Given the description of an element on the screen output the (x, y) to click on. 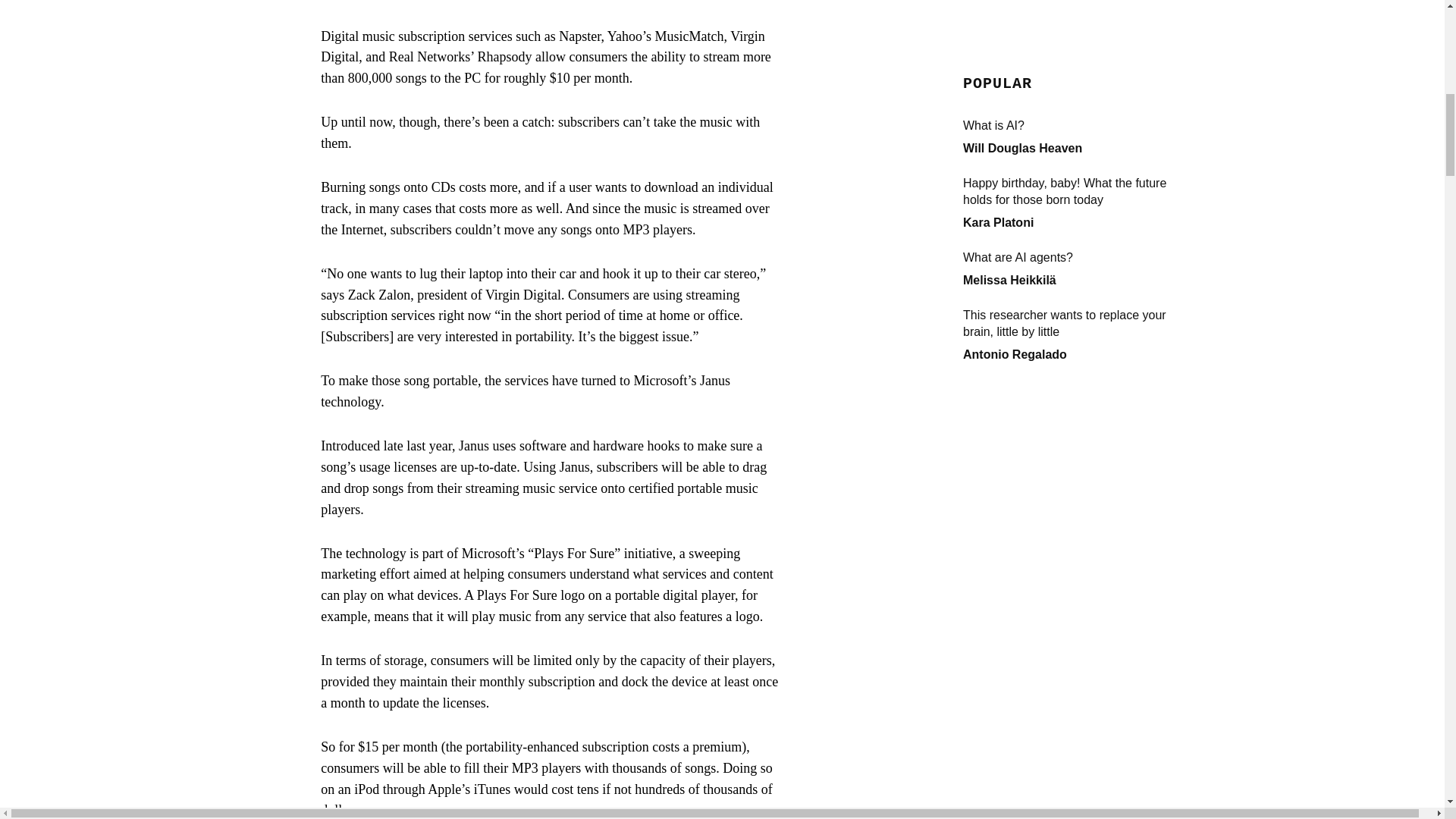
What are AI agents?  (1075, 2)
Antonio Regalado (1014, 93)
